Given the description of an element on the screen output the (x, y) to click on. 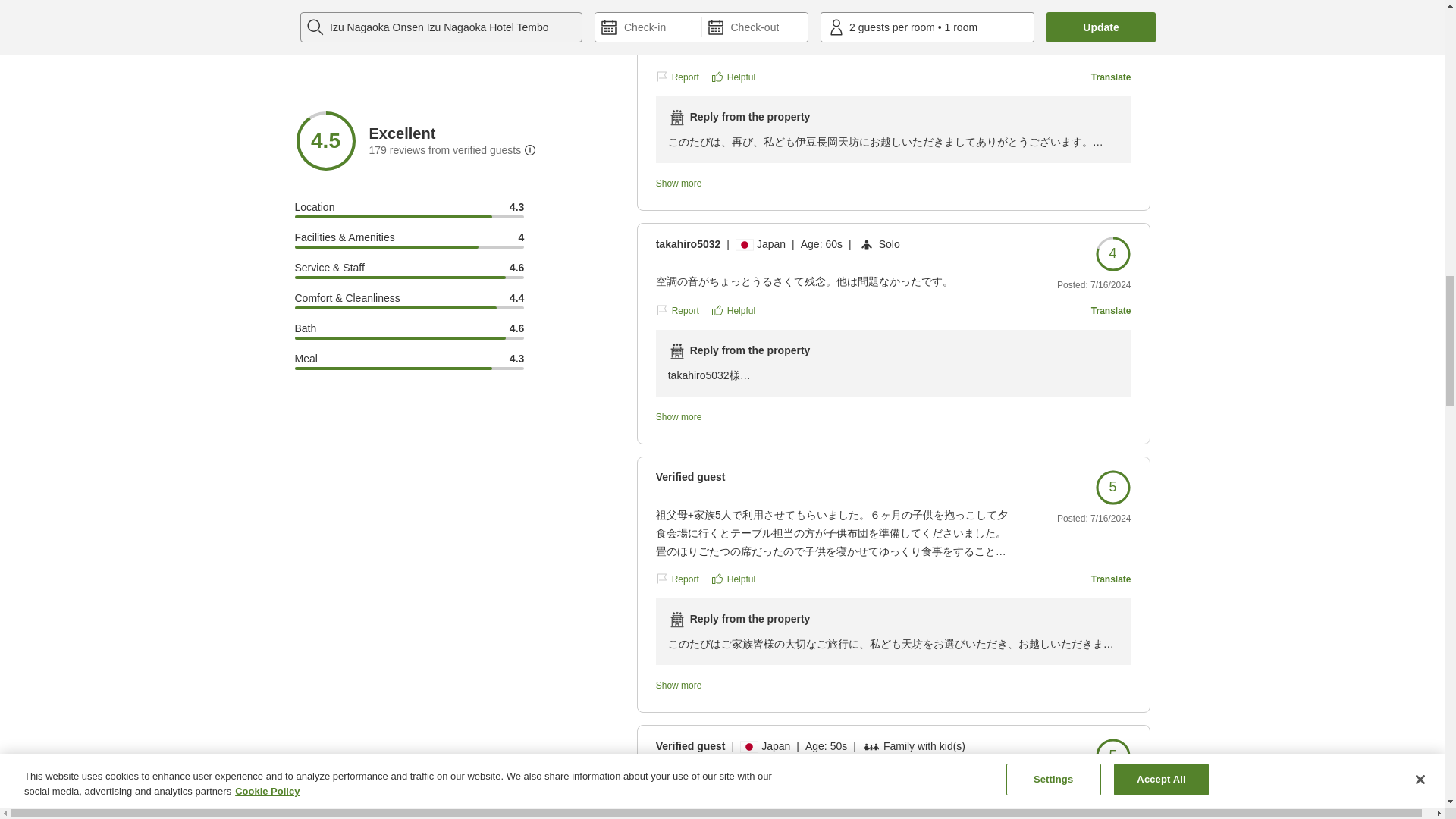
Helpful (733, 76)
Show more (734, 183)
Report (677, 309)
Translate (1110, 76)
Report (677, 76)
